Given the description of an element on the screen output the (x, y) to click on. 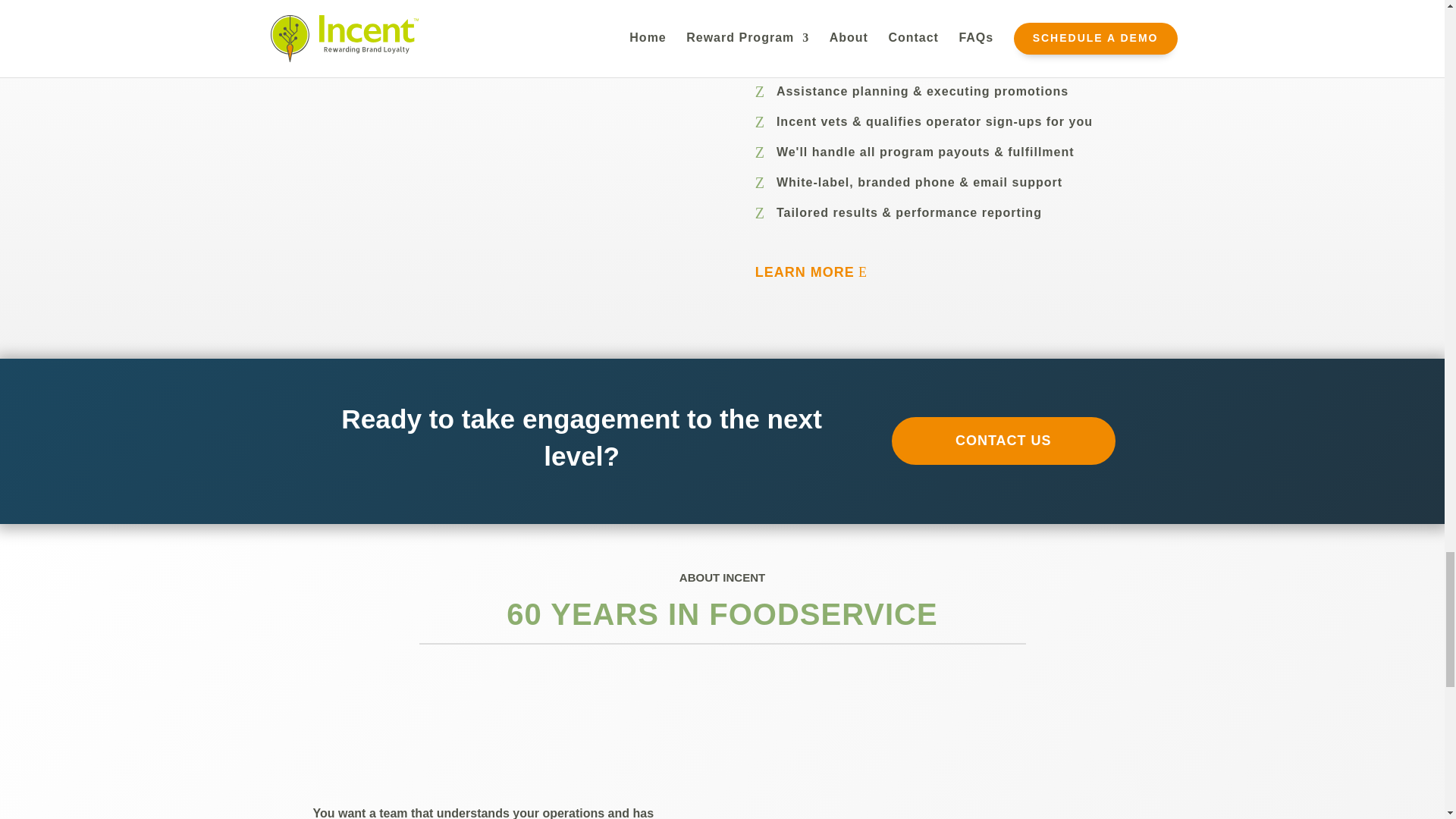
LEARN MORE (817, 272)
CONTACT US (1003, 440)
